Given the description of an element on the screen output the (x, y) to click on. 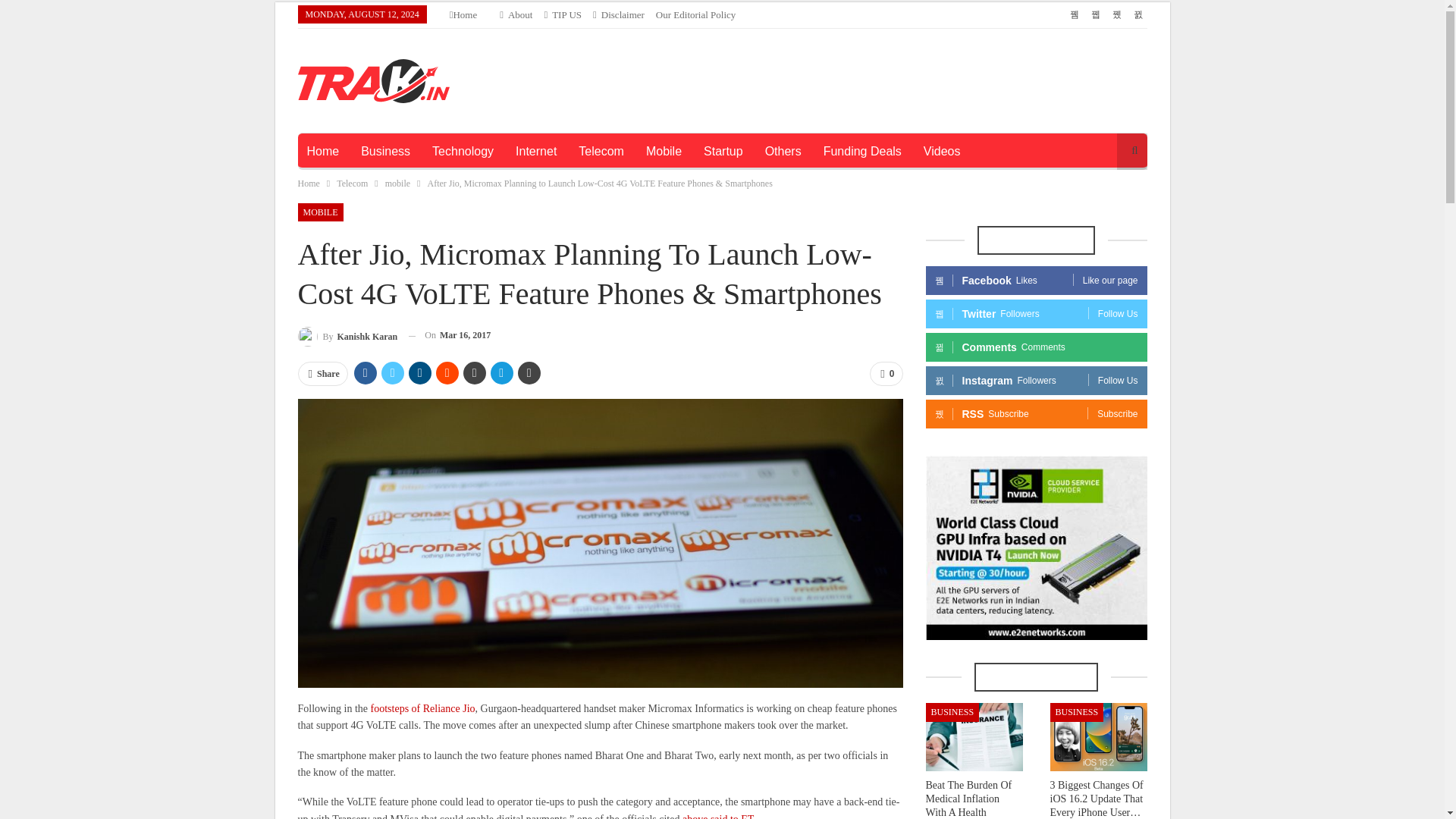
About (515, 14)
MOBILE (319, 212)
Mobile (663, 151)
Business (385, 151)
Disclaimer (618, 14)
Telecom (352, 183)
TIP US (561, 14)
Internet (536, 151)
Funding Deals (862, 151)
